Given the description of an element on the screen output the (x, y) to click on. 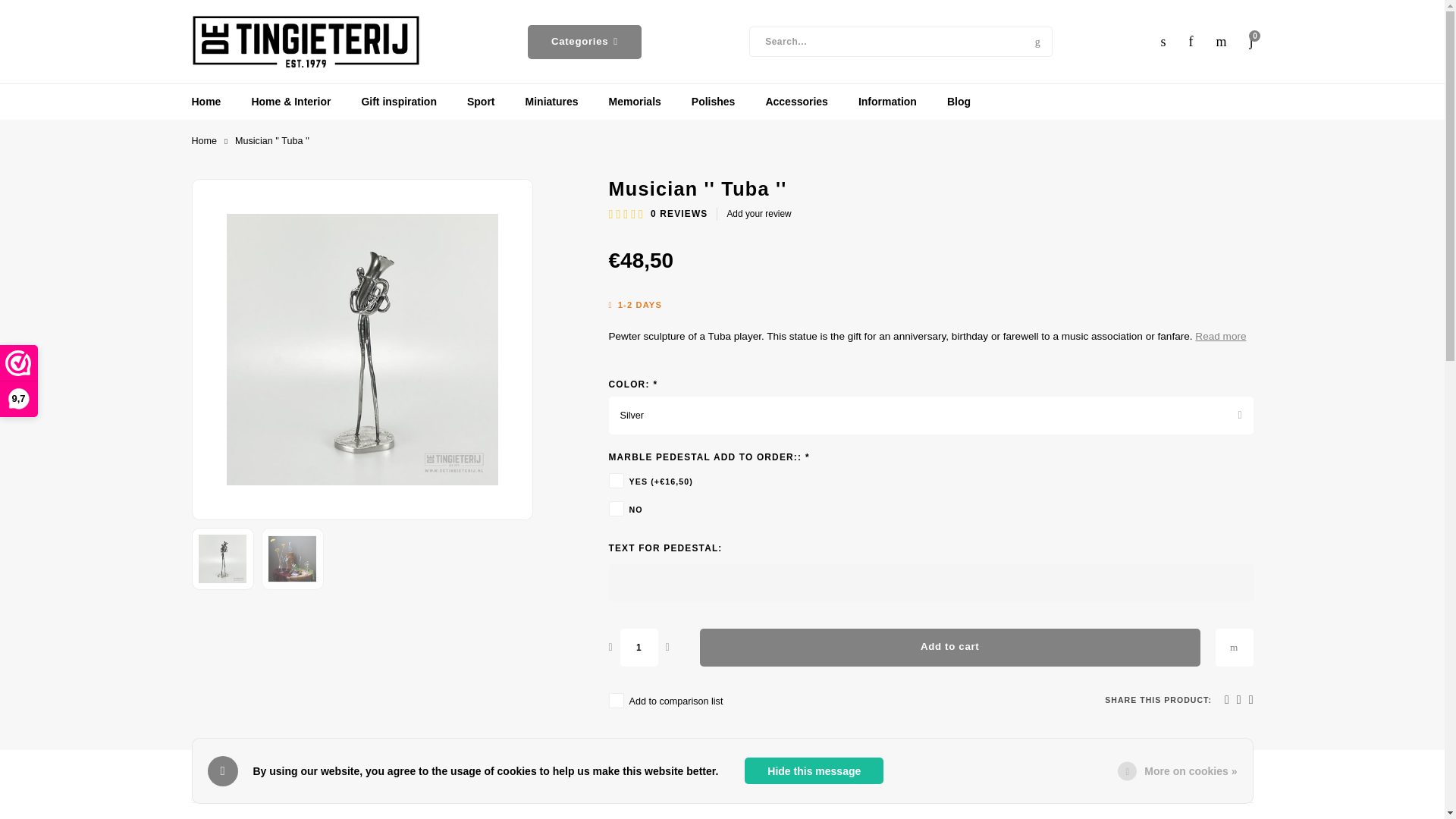
Musician '' Tuba '' (361, 349)
Search (1037, 41)
Add to cart (949, 647)
Home (203, 141)
Musician '' Tuba '' (222, 558)
Musician '' Tuba '' (292, 558)
1 (639, 647)
